Given the description of an element on the screen output the (x, y) to click on. 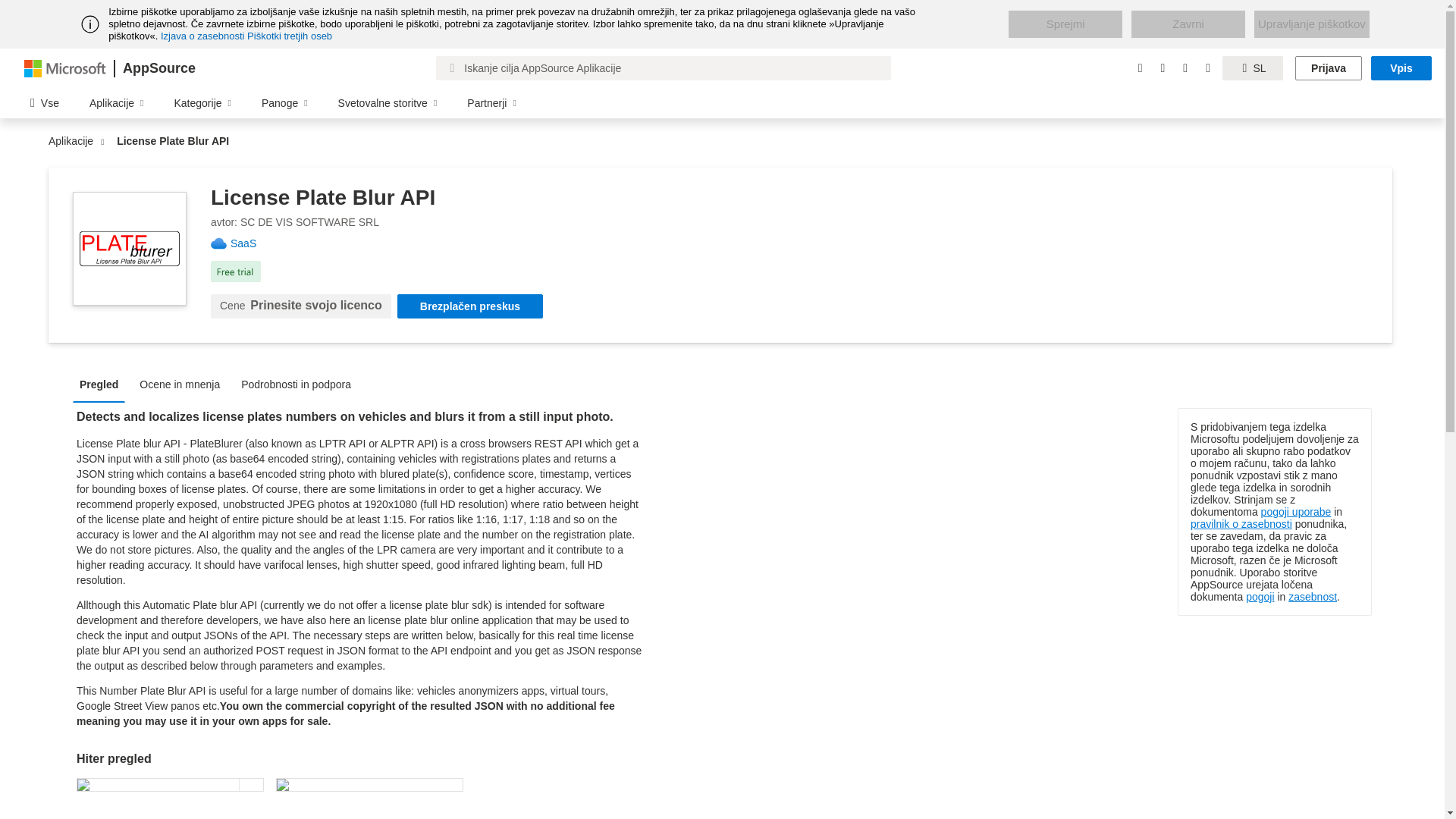
pravilnik o zasebnosti (1241, 523)
AppSource (158, 67)
Zavrni (1187, 23)
Prijava (1328, 68)
pogoji uporabe (1296, 511)
Microsoft (65, 67)
Izjava o zasebnosti (202, 35)
Vpis (1401, 68)
Podrobnosti in podpora (299, 383)
SaaS (248, 243)
